Given the description of an element on the screen output the (x, y) to click on. 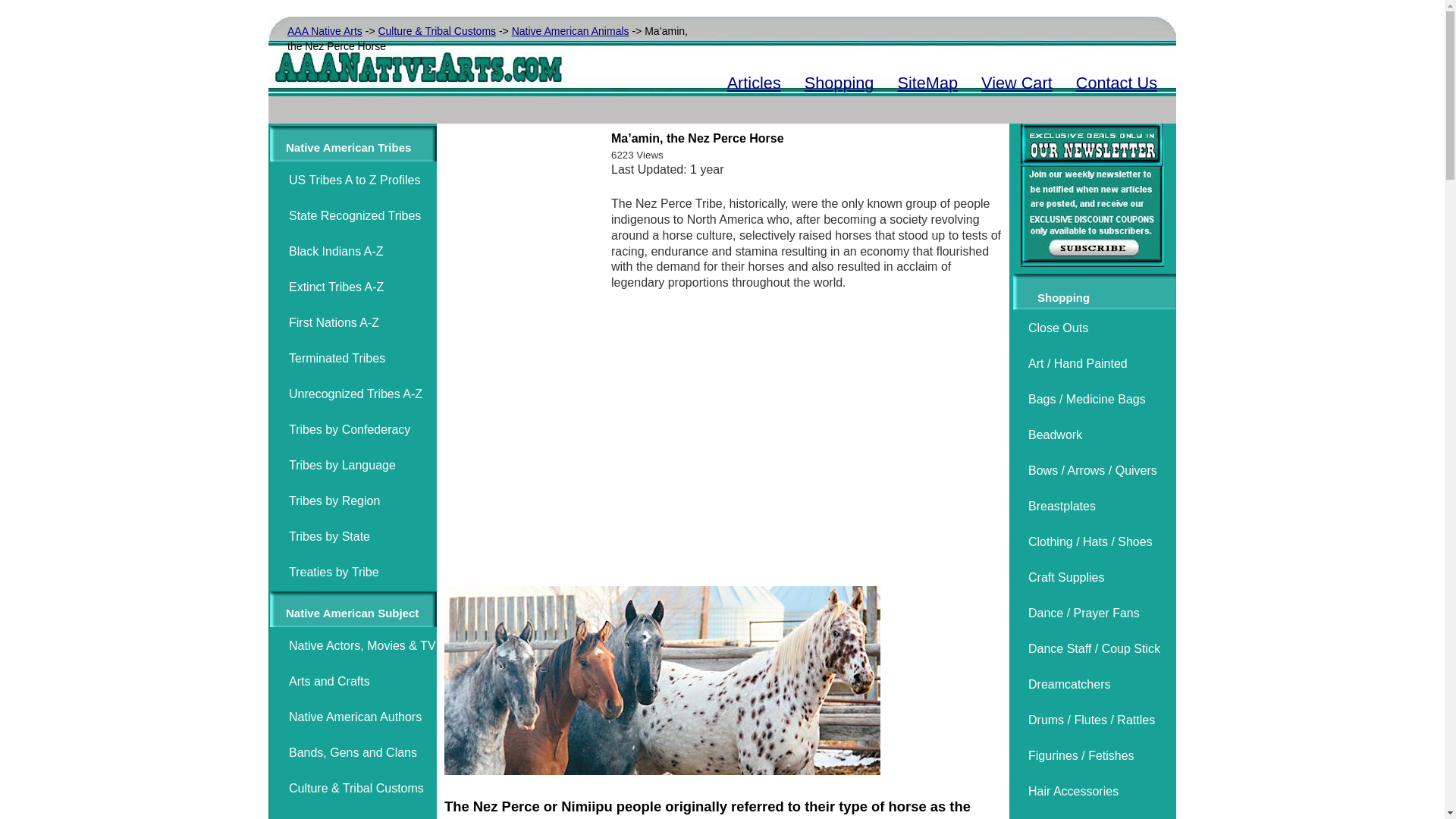
View all posts in Native American Animals (570, 30)
AAA Native Arts Gallery Catalog (840, 82)
Contact Us (1116, 82)
State Recognized Tribes (354, 215)
US Tribes A to Z Profiles (354, 179)
Articles (753, 82)
Native American Animals (570, 30)
Shopping (840, 82)
AAA Native Arts Native American Articles (753, 82)
